Given the description of an element on the screen output the (x, y) to click on. 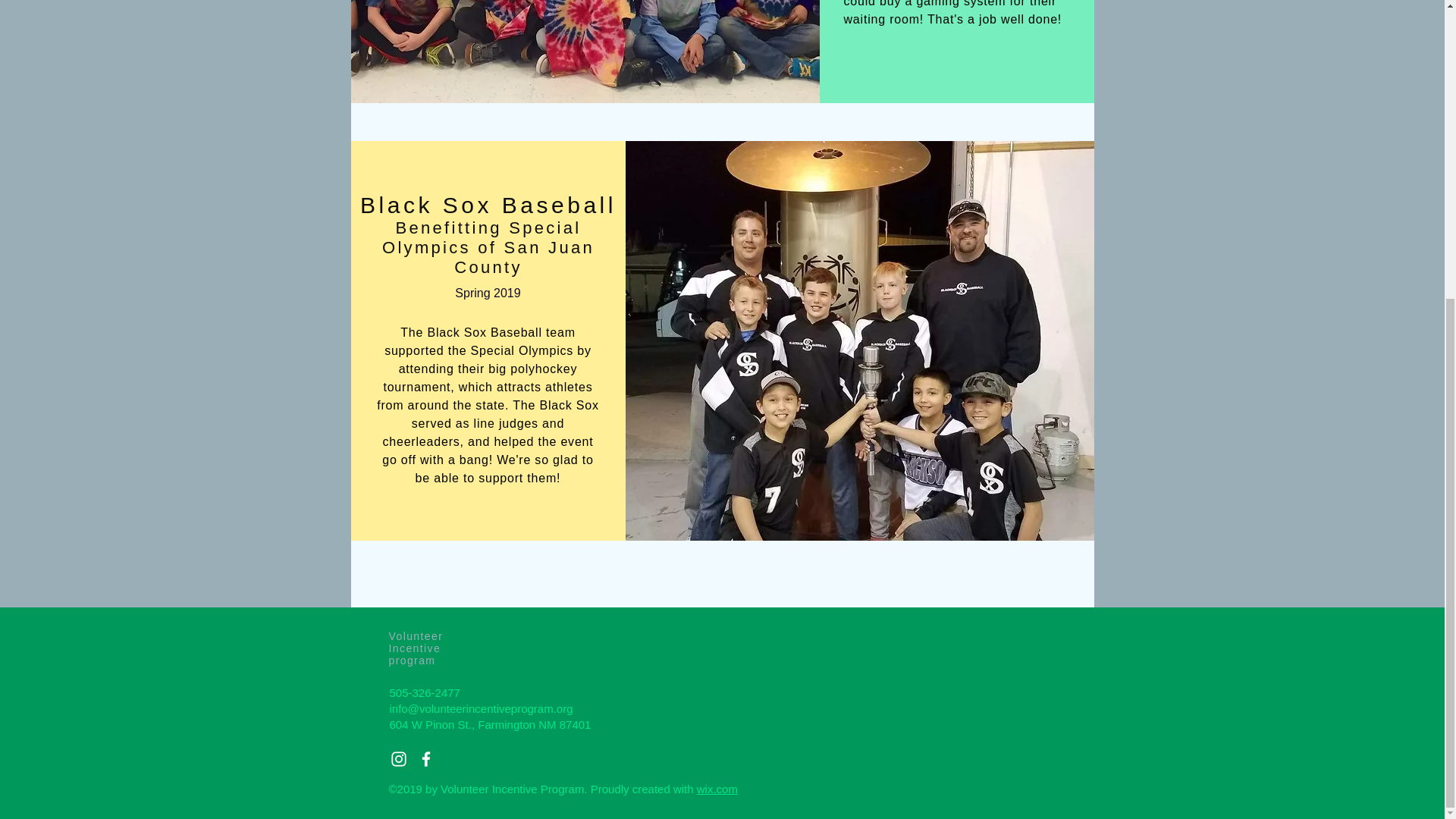
wix.com (717, 788)
